Given the description of an element on the screen output the (x, y) to click on. 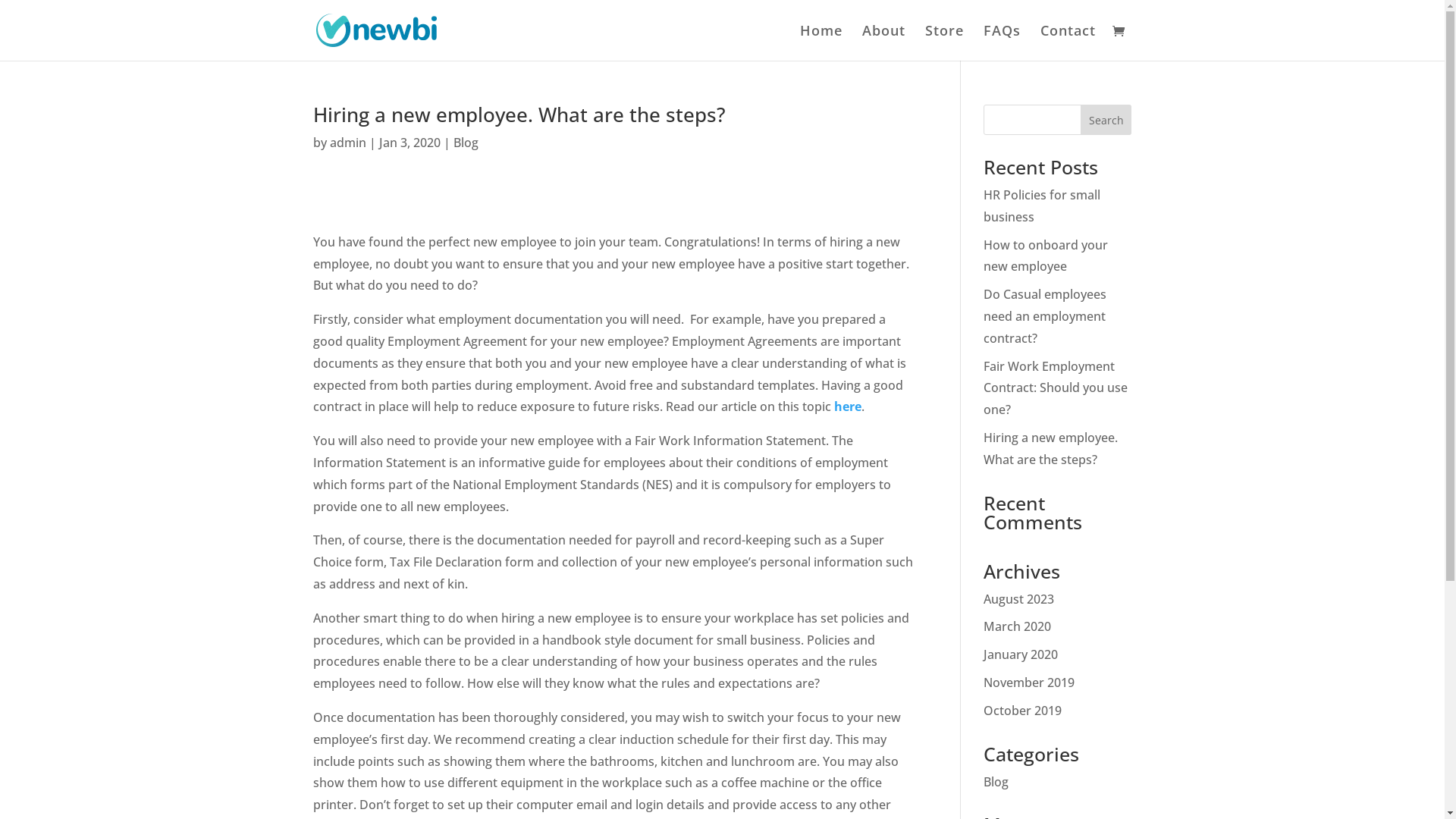
January 2020 Element type: text (1020, 654)
March 2020 Element type: text (1017, 626)
HR Policies for small business Element type: text (1041, 205)
Do Casual employees need an employment contract? Element type: text (1044, 315)
About Element type: text (882, 42)
August 2023 Element type: text (1018, 598)
Hiring a new employee. What are the steps? Element type: text (1050, 448)
Blog Element type: text (995, 781)
Fair Work Employment Contract: Should you use one? Element type: text (1055, 387)
How to onboard your new employee Element type: text (1045, 255)
Contact Element type: text (1067, 42)
October 2019 Element type: text (1022, 710)
November 2019 Element type: text (1028, 682)
Search Element type: text (1106, 119)
Home Element type: text (820, 42)
FAQs Element type: text (1000, 42)
here Element type: text (847, 406)
admin Element type: text (347, 142)
Blog Element type: text (465, 142)
Store Element type: text (944, 42)
